Given the description of an element on the screen output the (x, y) to click on. 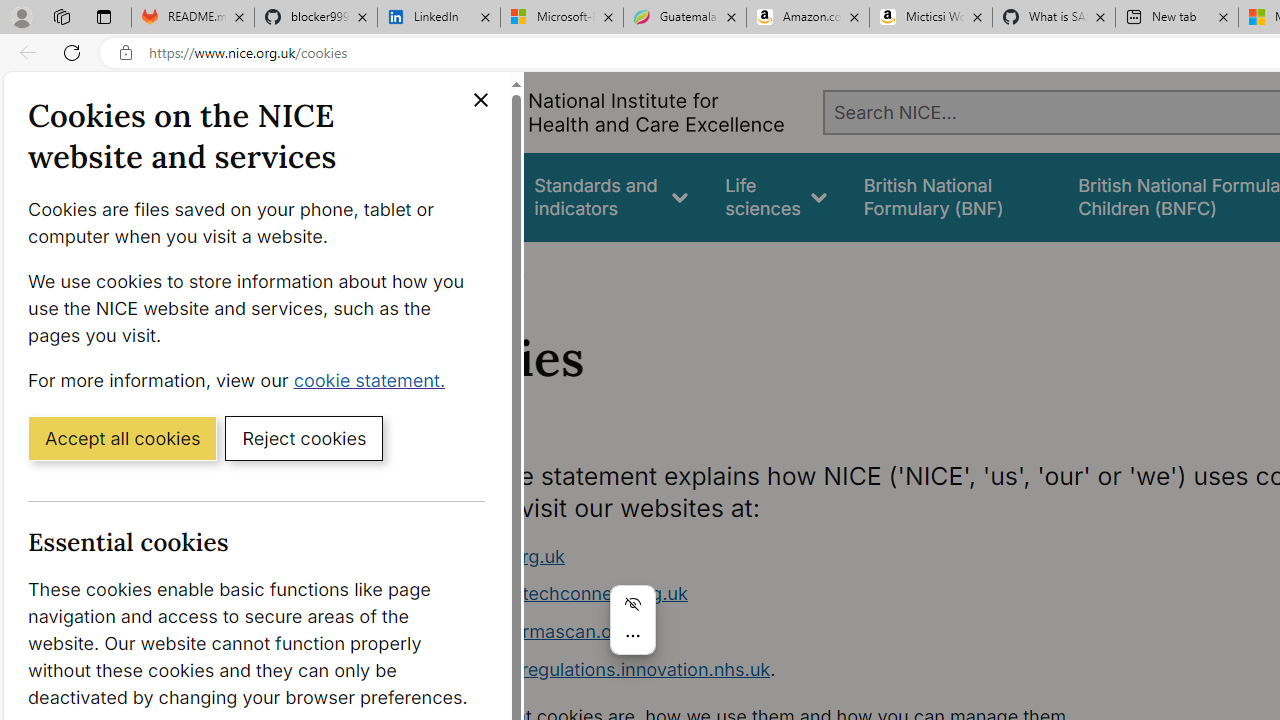
www.ukpharmascan.org.uk (538, 631)
Home> (433, 268)
www.healthtechconnect.org.uk (796, 594)
Reject cookies (304, 437)
false (952, 196)
About (498, 268)
www.digitalregulations.innovation.nhs.uk. (796, 669)
www.healthtechconnect.org.uk (554, 593)
Mini menu on text selection (632, 631)
www.nice.org.uk (796, 556)
